Given the description of an element on the screen output the (x, y) to click on. 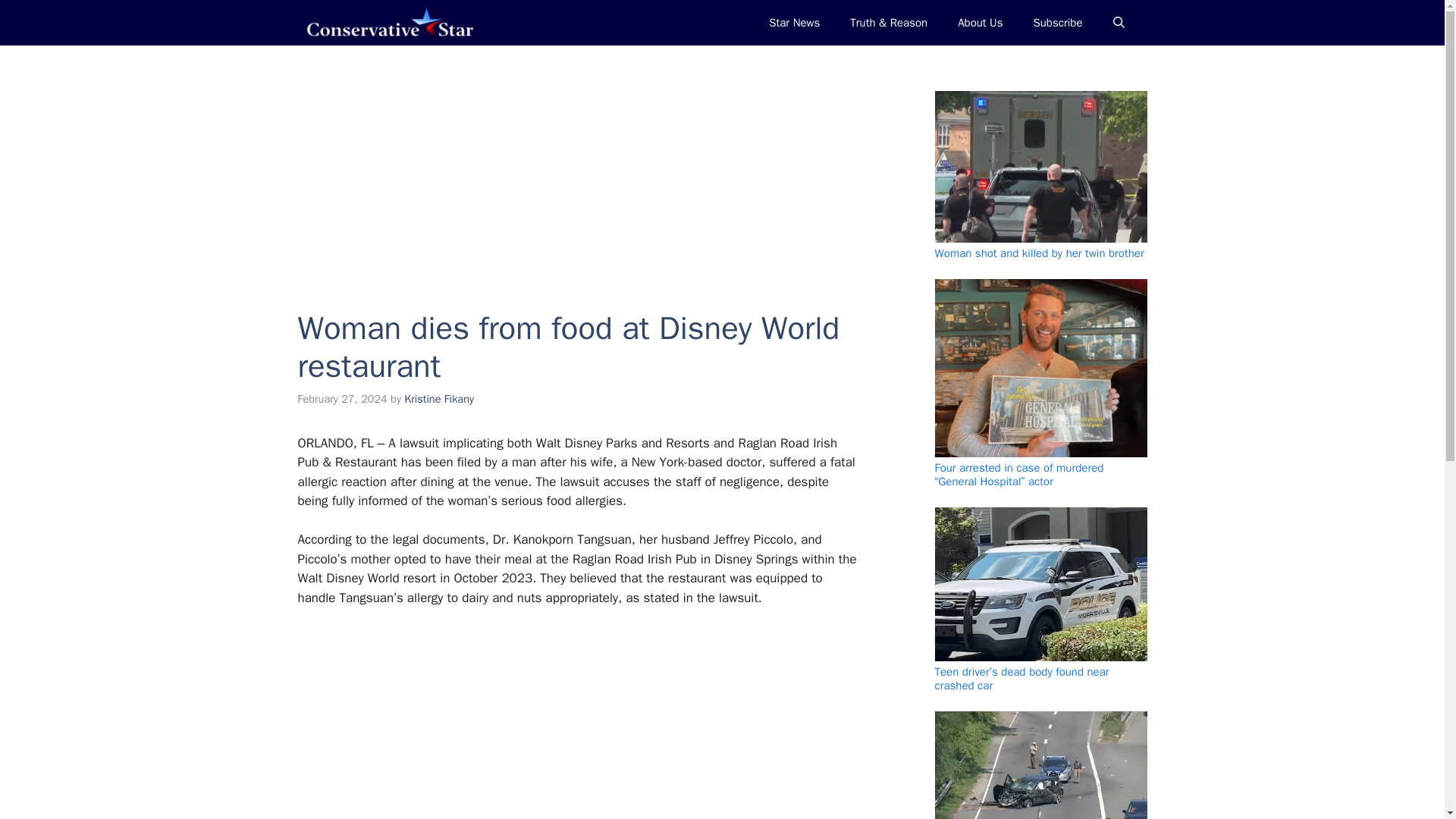
Kristine Fikany (439, 398)
Star News (794, 22)
View all posts by Kristine Fikany (439, 398)
Advertisement (570, 723)
Conservative Star (388, 22)
Advertisement (577, 166)
Woman shot and killed by her twin brother (1038, 253)
Subscribe (1057, 22)
About Us (979, 22)
